Given the description of an element on the screen output the (x, y) to click on. 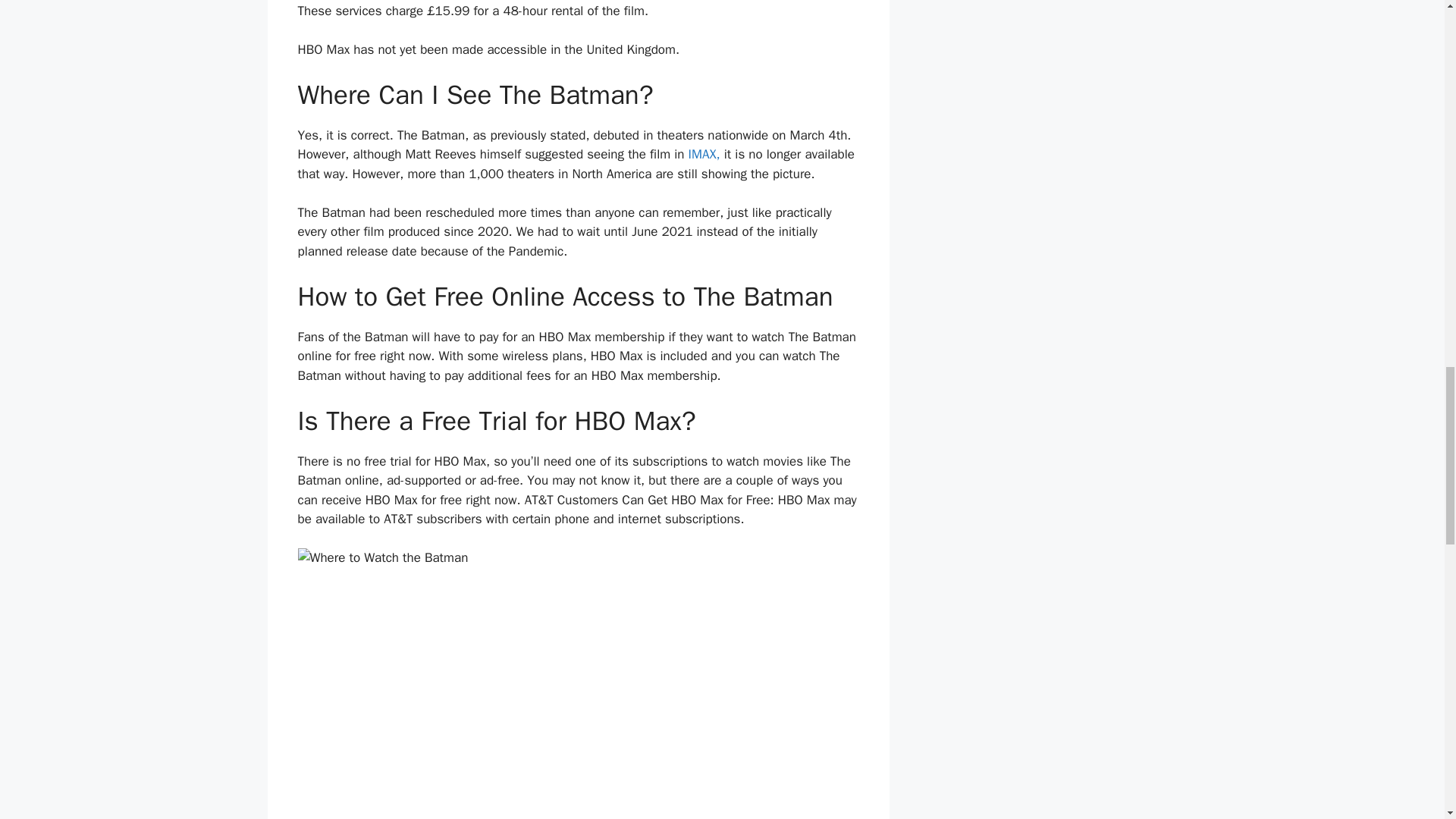
IMAX, (703, 154)
